Given the description of an element on the screen output the (x, y) to click on. 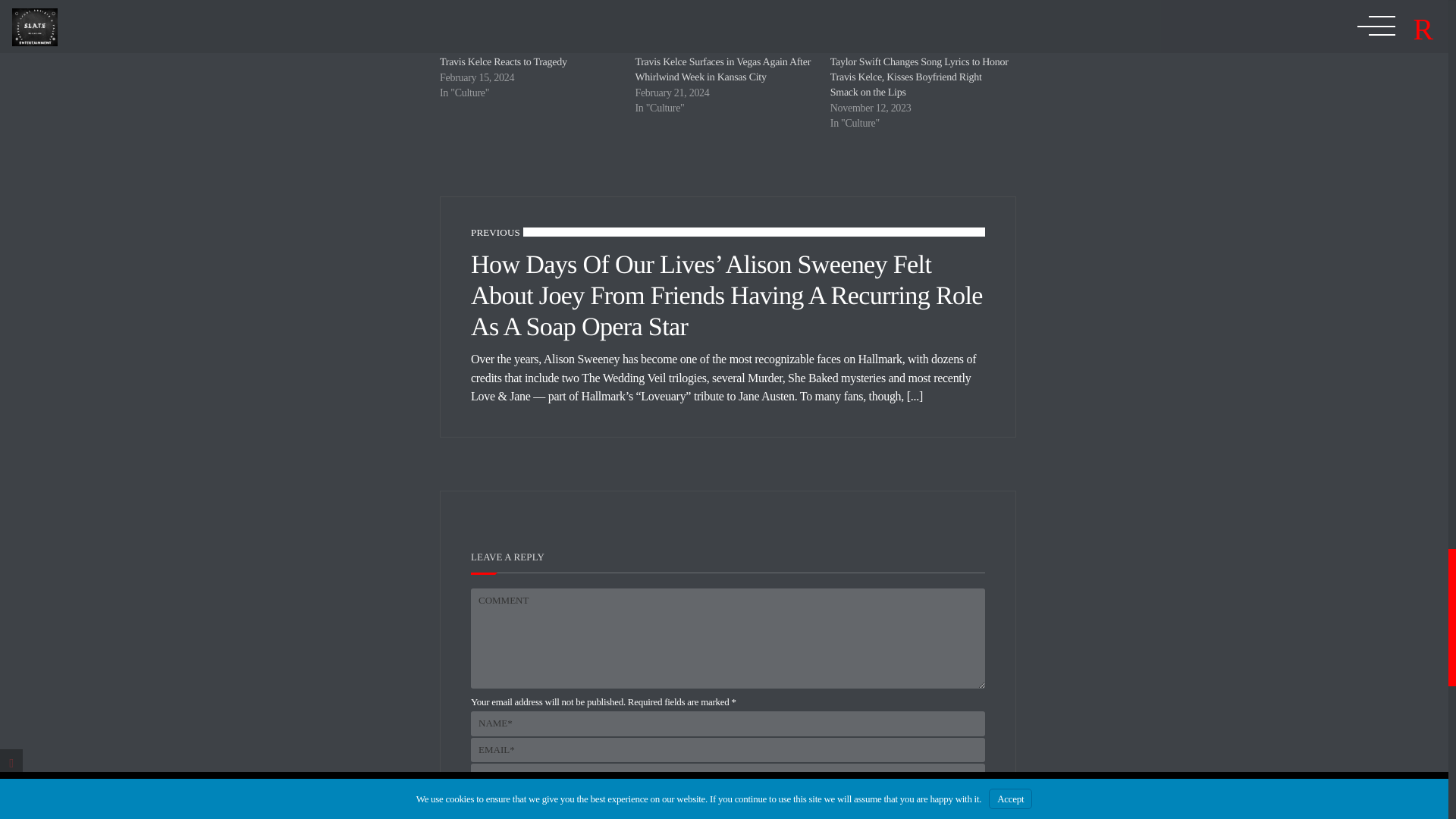
yes (475, 797)
Travis Kelce Reacts to Tragedy (503, 61)
Travis Kelce Reacts to Tragedy (529, 27)
